Given the description of an element on the screen output the (x, y) to click on. 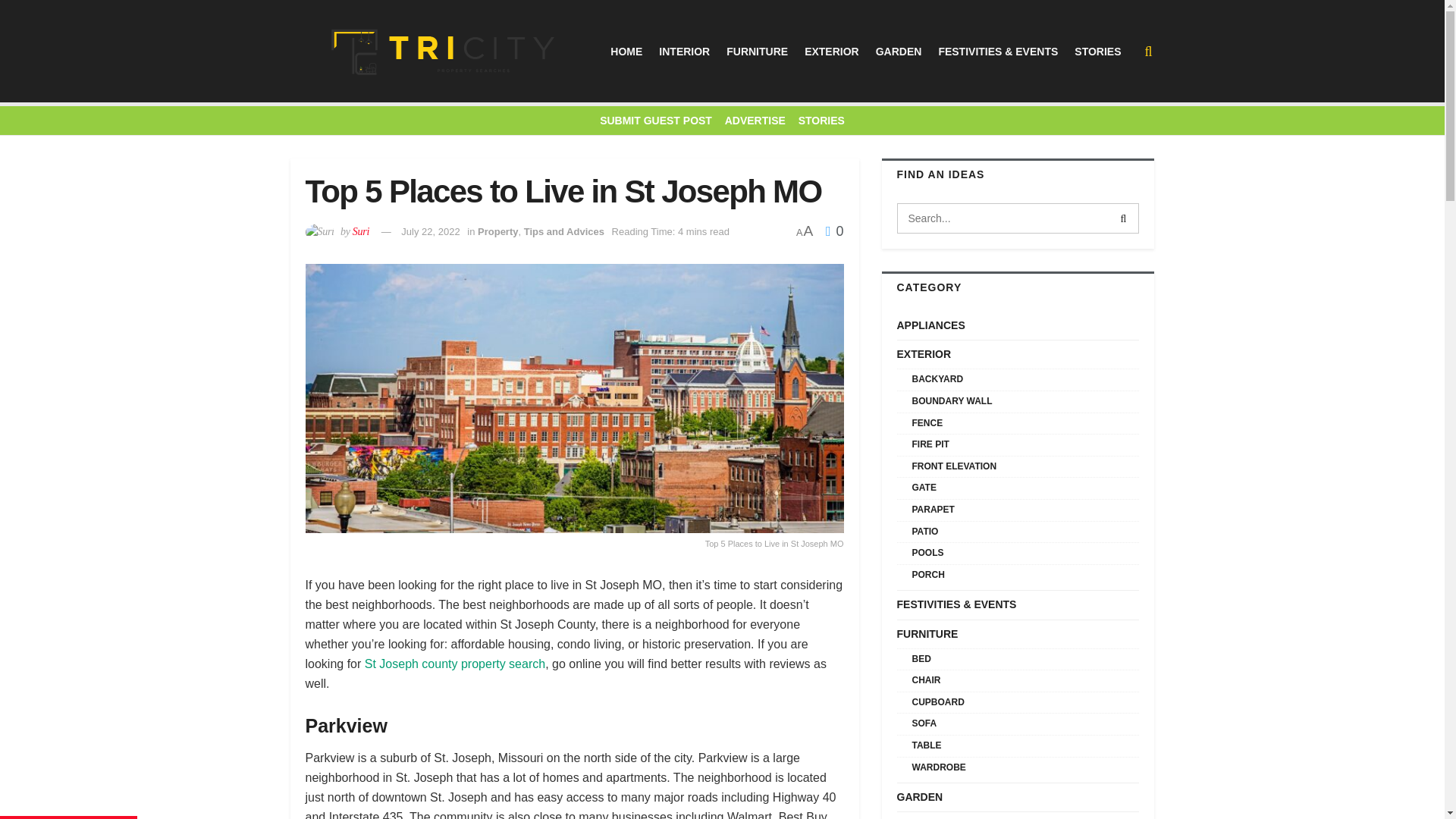
Property (497, 231)
GARDEN (898, 51)
HOME (626, 51)
SUBMIT GUEST POST (655, 120)
ADVERTISE (755, 120)
EXTERIOR (832, 51)
Suri (360, 231)
FURNITURE (756, 51)
Tips and Advices (564, 231)
STORIES (1097, 51)
July 22, 2022 (430, 231)
INTERIOR (684, 51)
STORIES (820, 120)
